Given the description of an element on the screen output the (x, y) to click on. 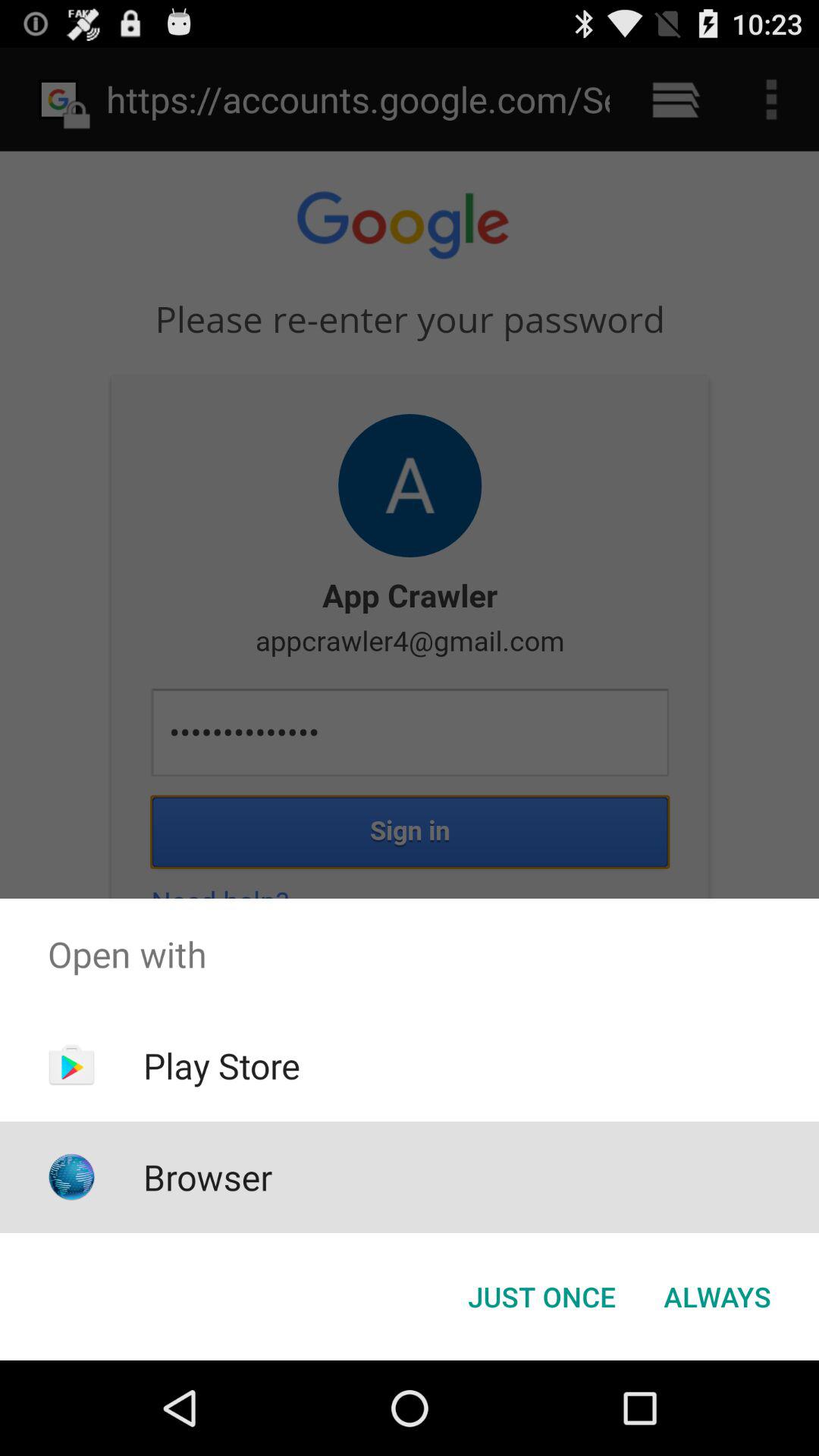
tap the button next to always (541, 1296)
